Given the description of an element on the screen output the (x, y) to click on. 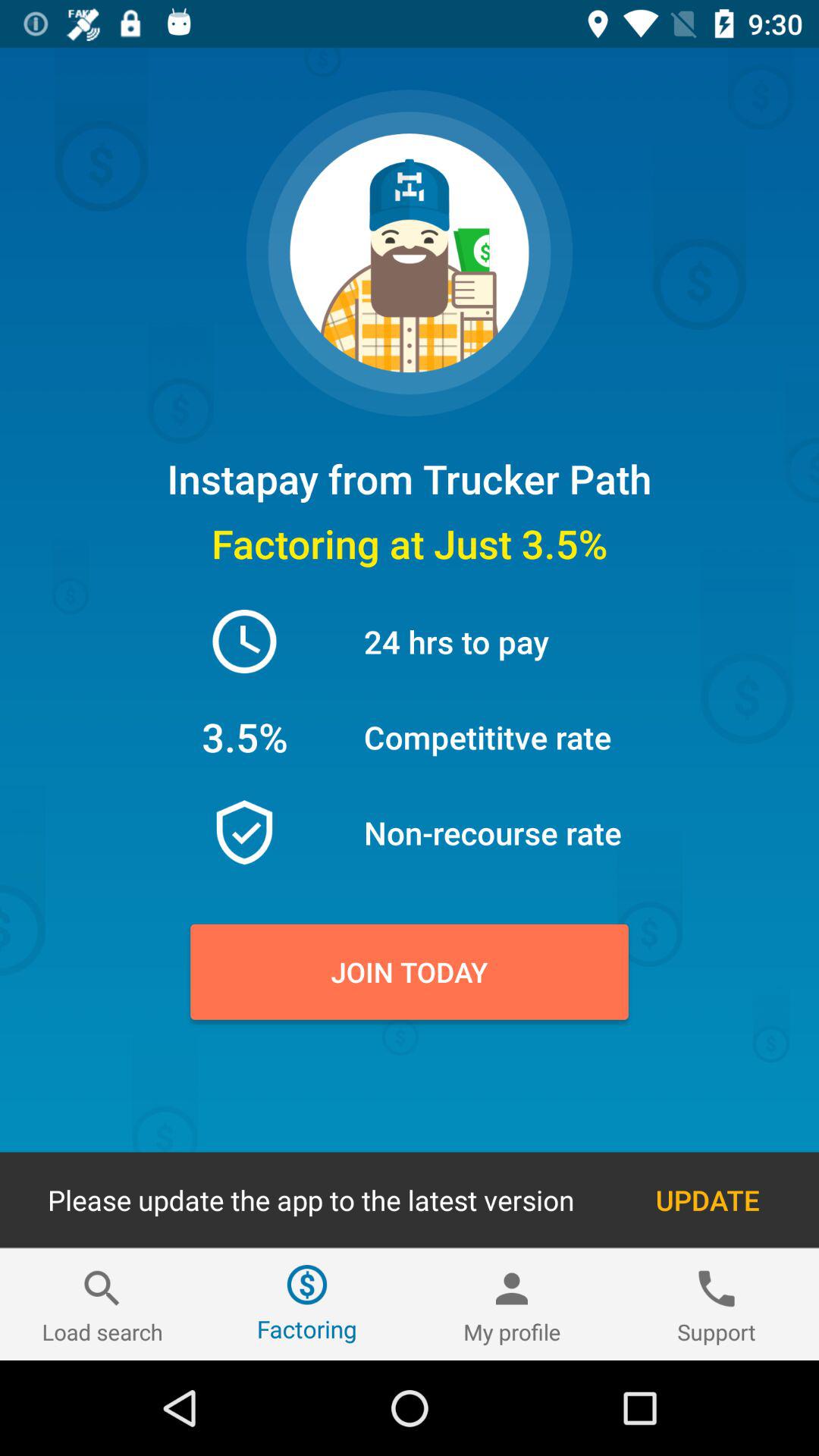
launch the support icon (716, 1304)
